Given the description of an element on the screen output the (x, y) to click on. 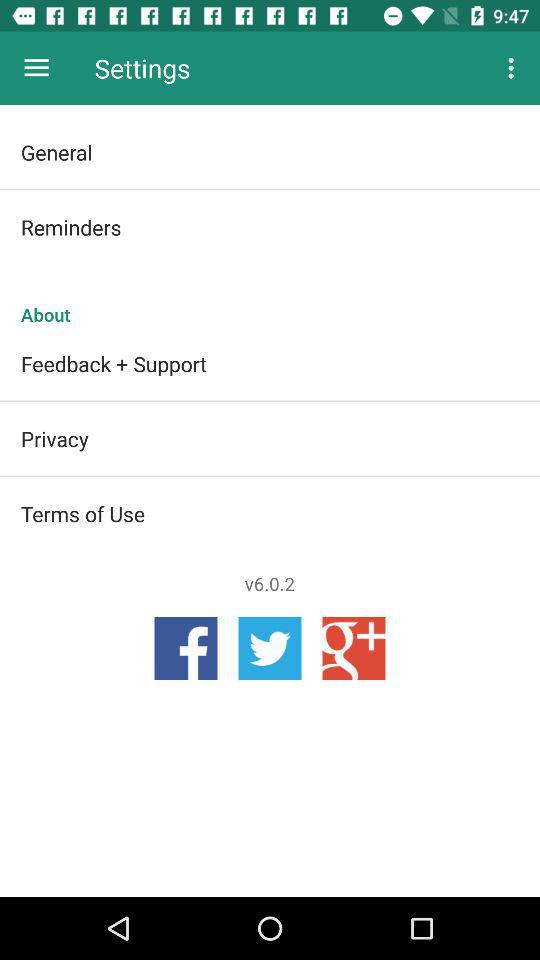
turn on icon above the general icon (36, 68)
